Given the description of an element on the screen output the (x, y) to click on. 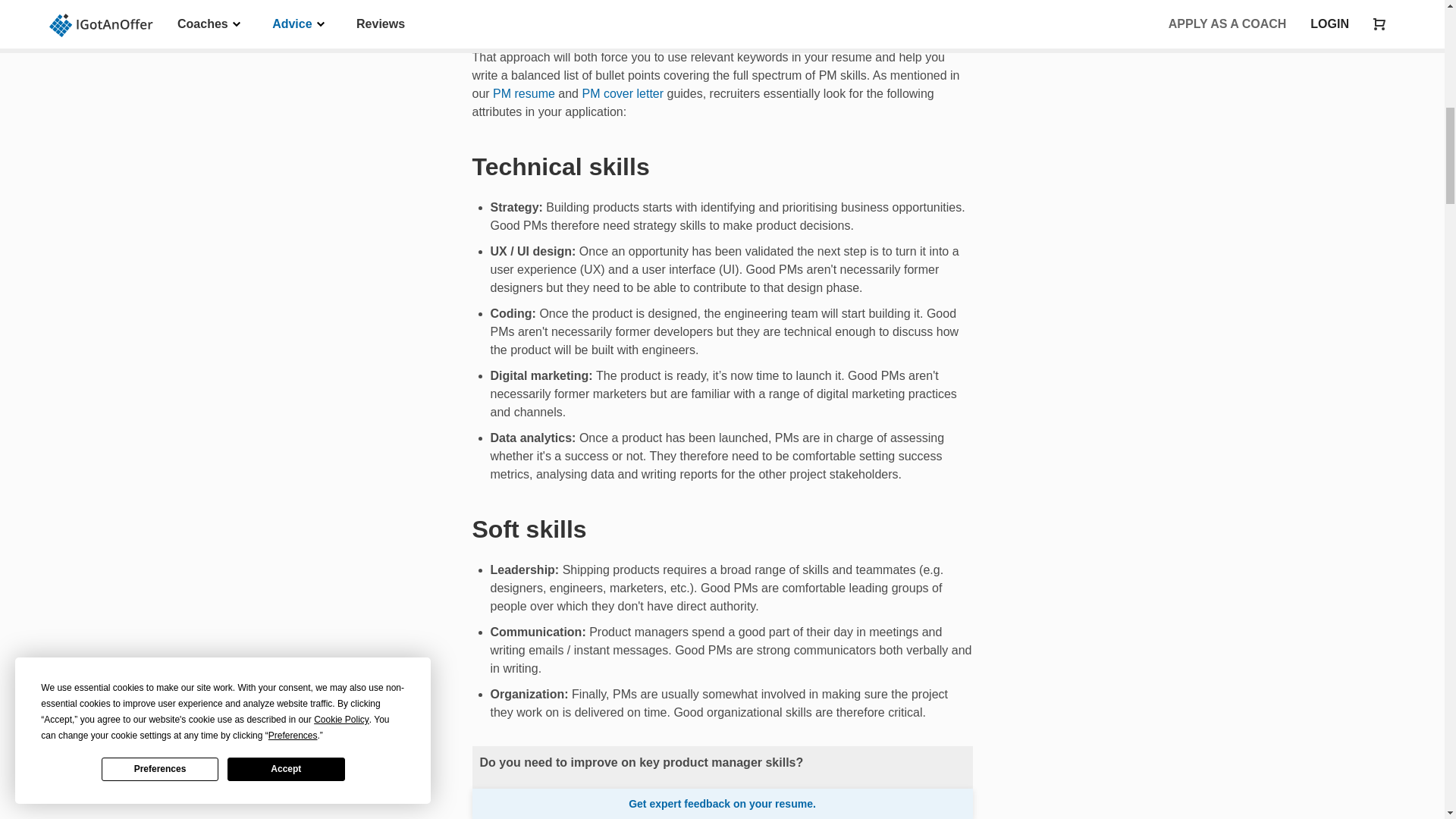
Product manager resume (523, 92)
PM cover letter (621, 92)
product management coaching (719, 813)
